Given the description of an element on the screen output the (x, y) to click on. 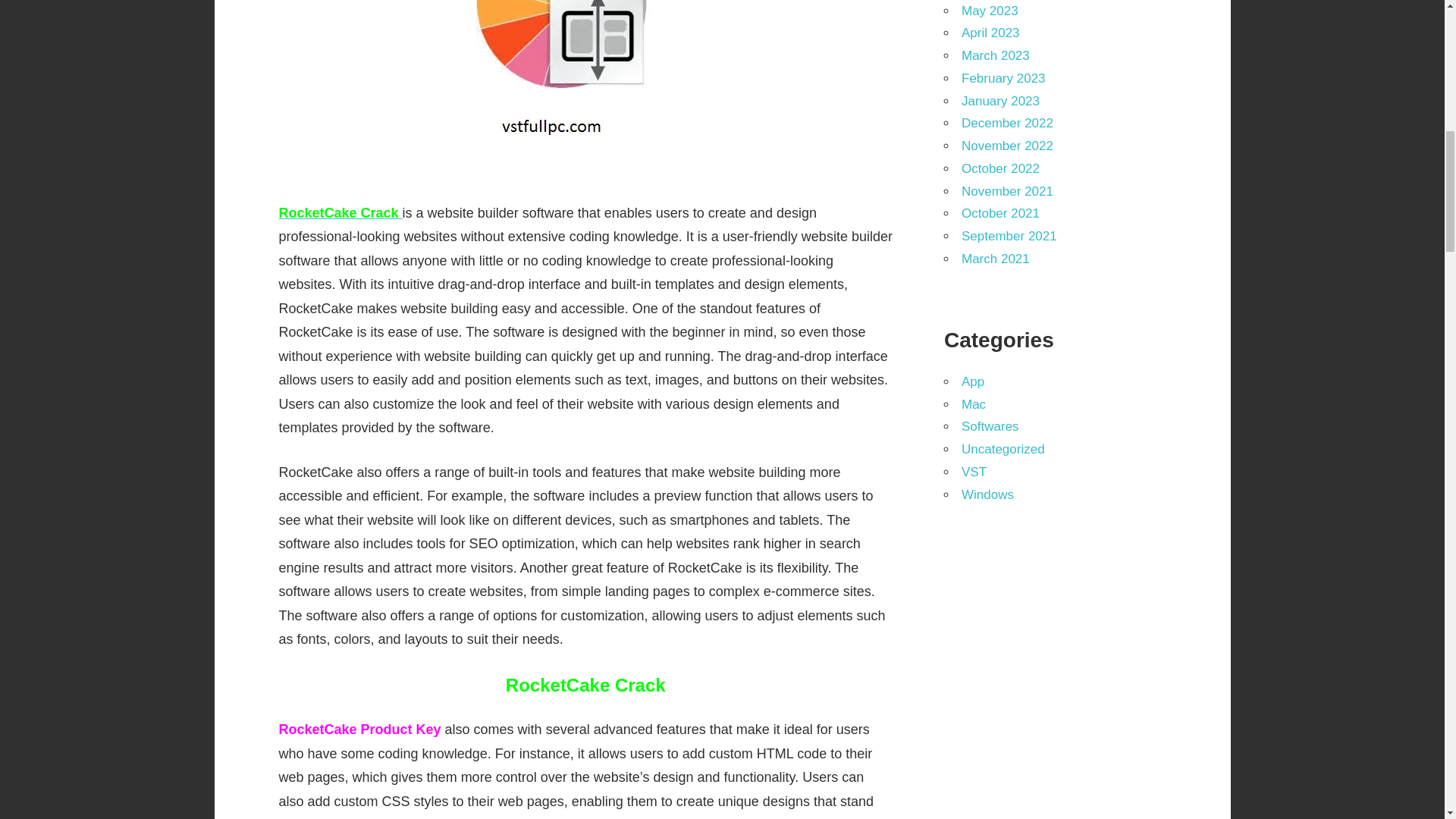
RocketCake Crack (338, 212)
